Given the description of an element on the screen output the (x, y) to click on. 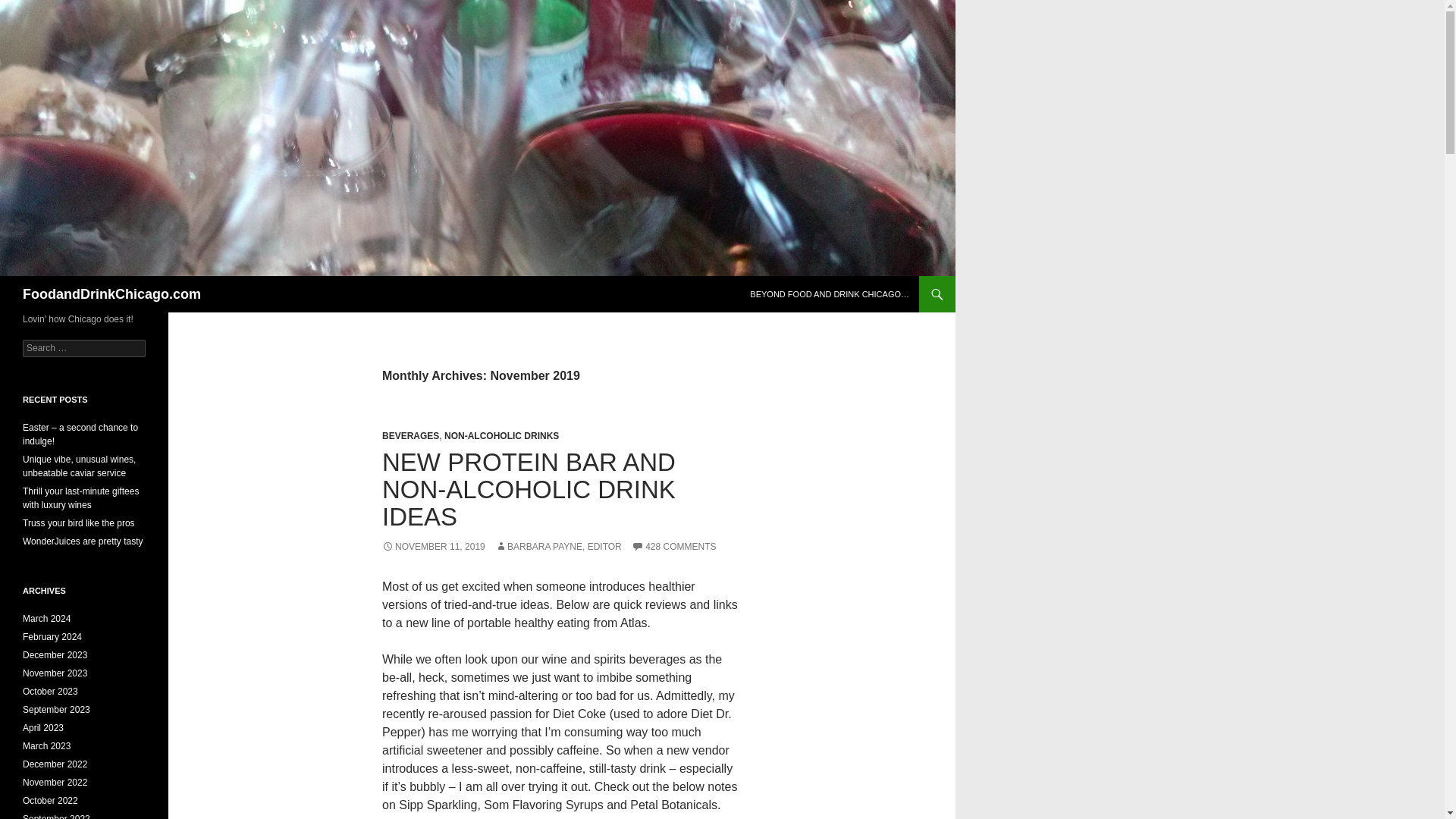
FoodandDrinkChicago.com (111, 294)
NOVEMBER 11, 2019 (432, 546)
NEW PROTEIN BAR AND NON-ALCOHOLIC DRINK IDEAS (528, 488)
BARBARA PAYNE, EDITOR (558, 546)
428 COMMENTS (673, 546)
BEVERAGES (410, 435)
NON-ALCOHOLIC DRINKS (501, 435)
